Given the description of an element on the screen output the (x, y) to click on. 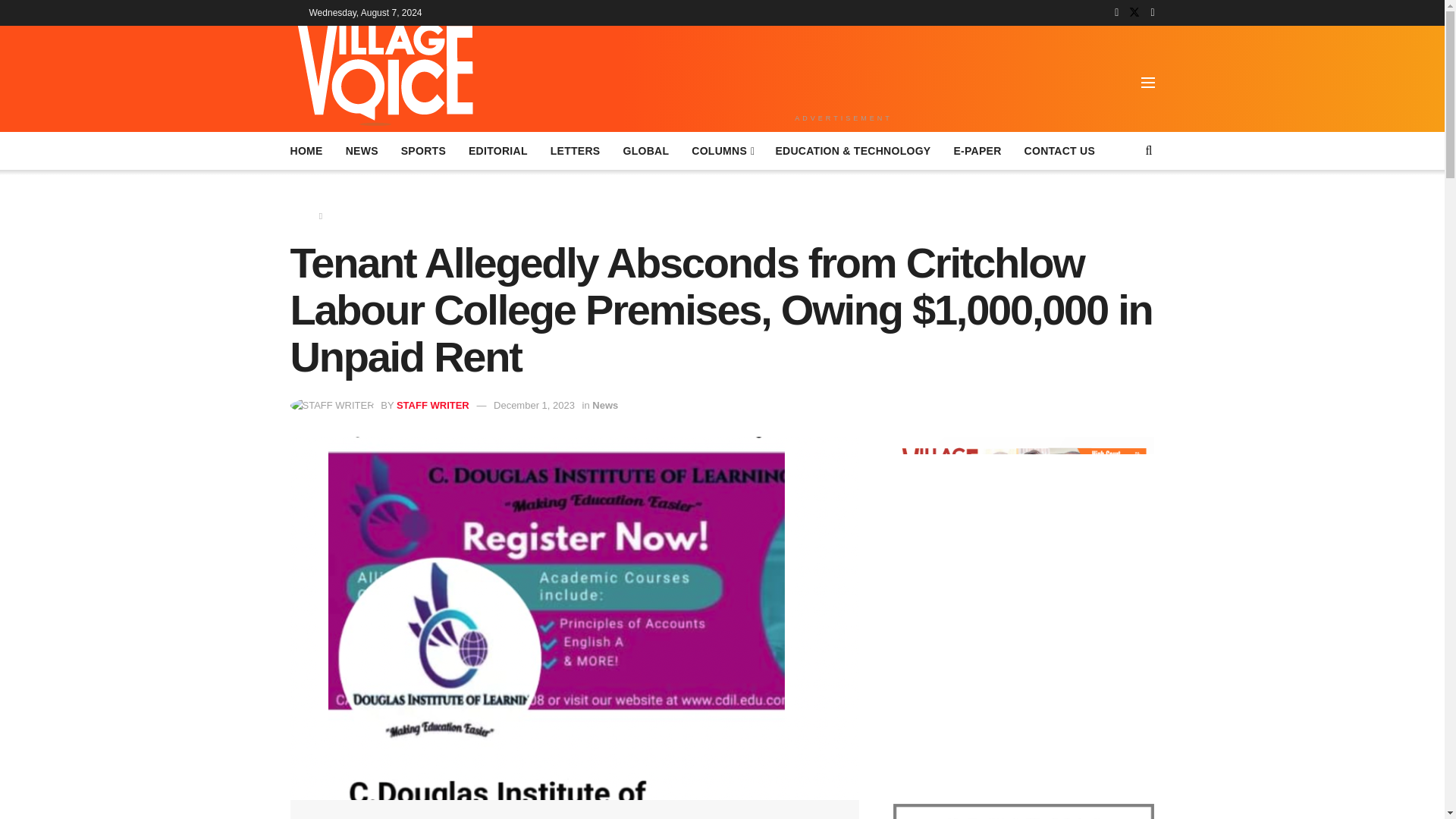
LETTERS (574, 150)
EDITORIAL (497, 150)
SPORTS (423, 150)
NEWS (362, 150)
GLOBAL (645, 150)
HOME (305, 150)
E-PAPER (977, 150)
COLUMNS (721, 150)
CONTACT US (1060, 150)
